Given the description of an element on the screen output the (x, y) to click on. 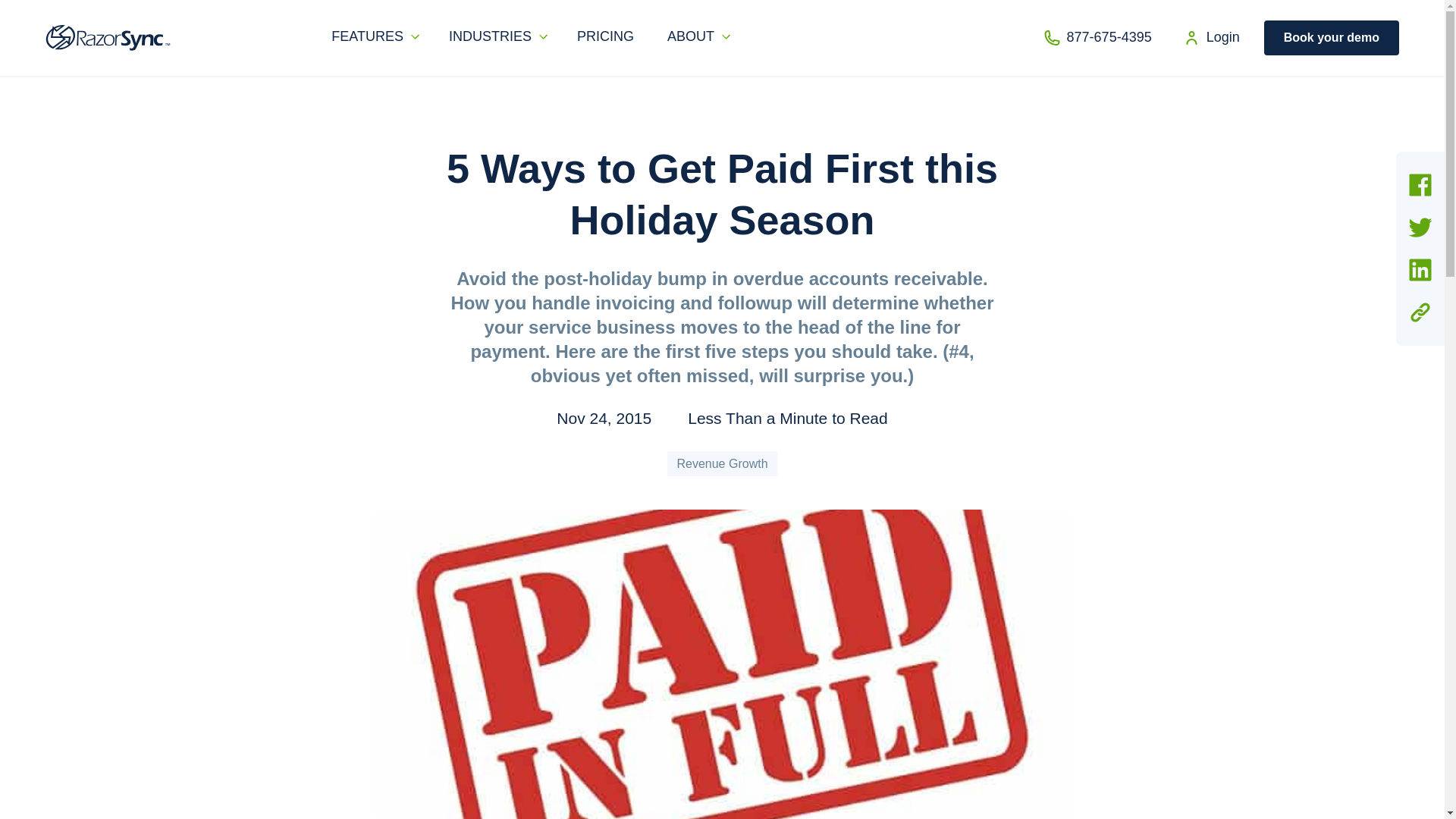
Login (1219, 37)
877-675-4395 (1106, 37)
Book your demo (1331, 37)
PRICING (608, 36)
